Given the description of an element on the screen output the (x, y) to click on. 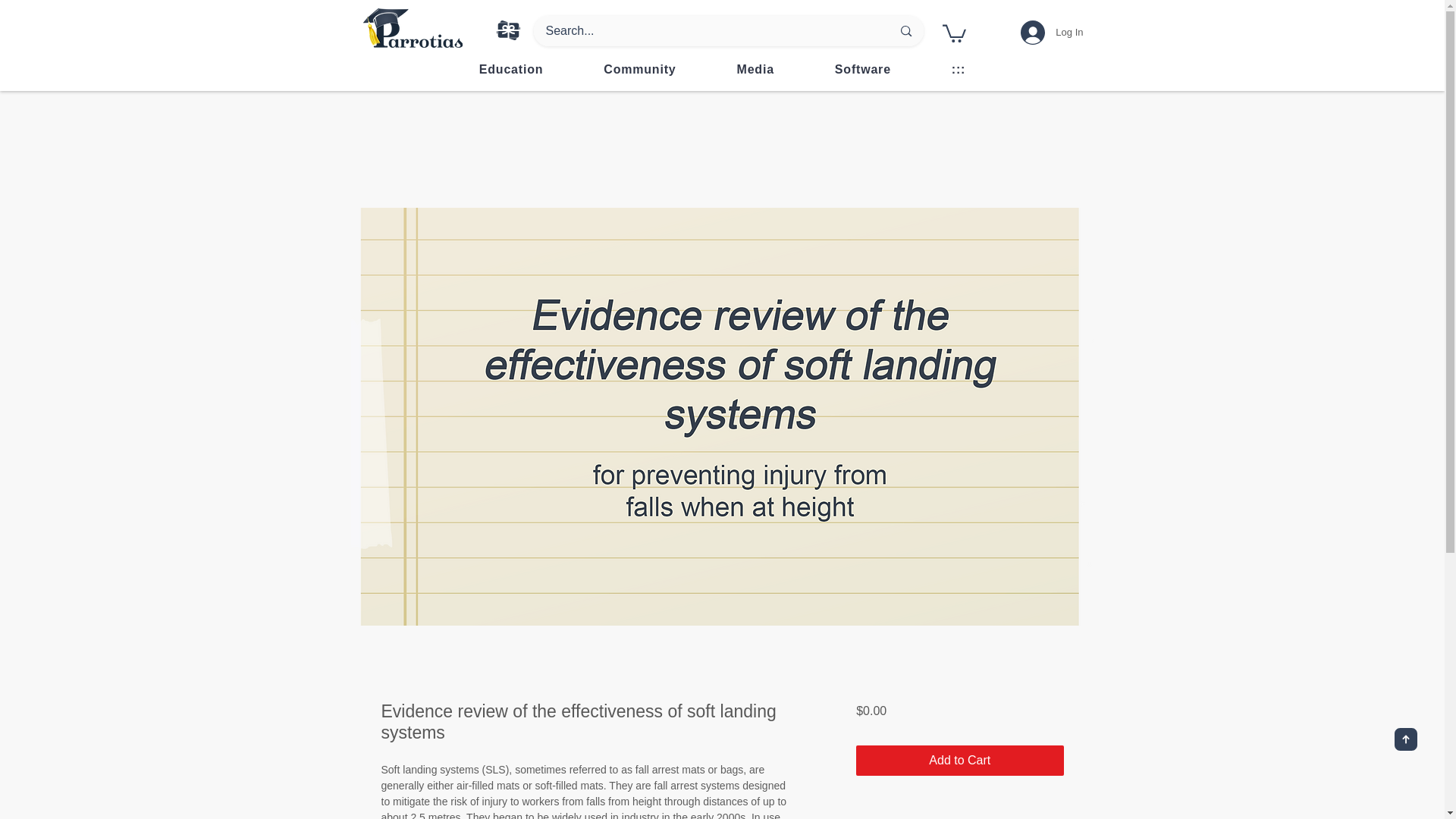
Media (755, 69)
Log In (721, 69)
Education (1051, 32)
Add to Cart (511, 69)
Software (959, 760)
Community (862, 69)
